Given the description of an element on the screen output the (x, y) to click on. 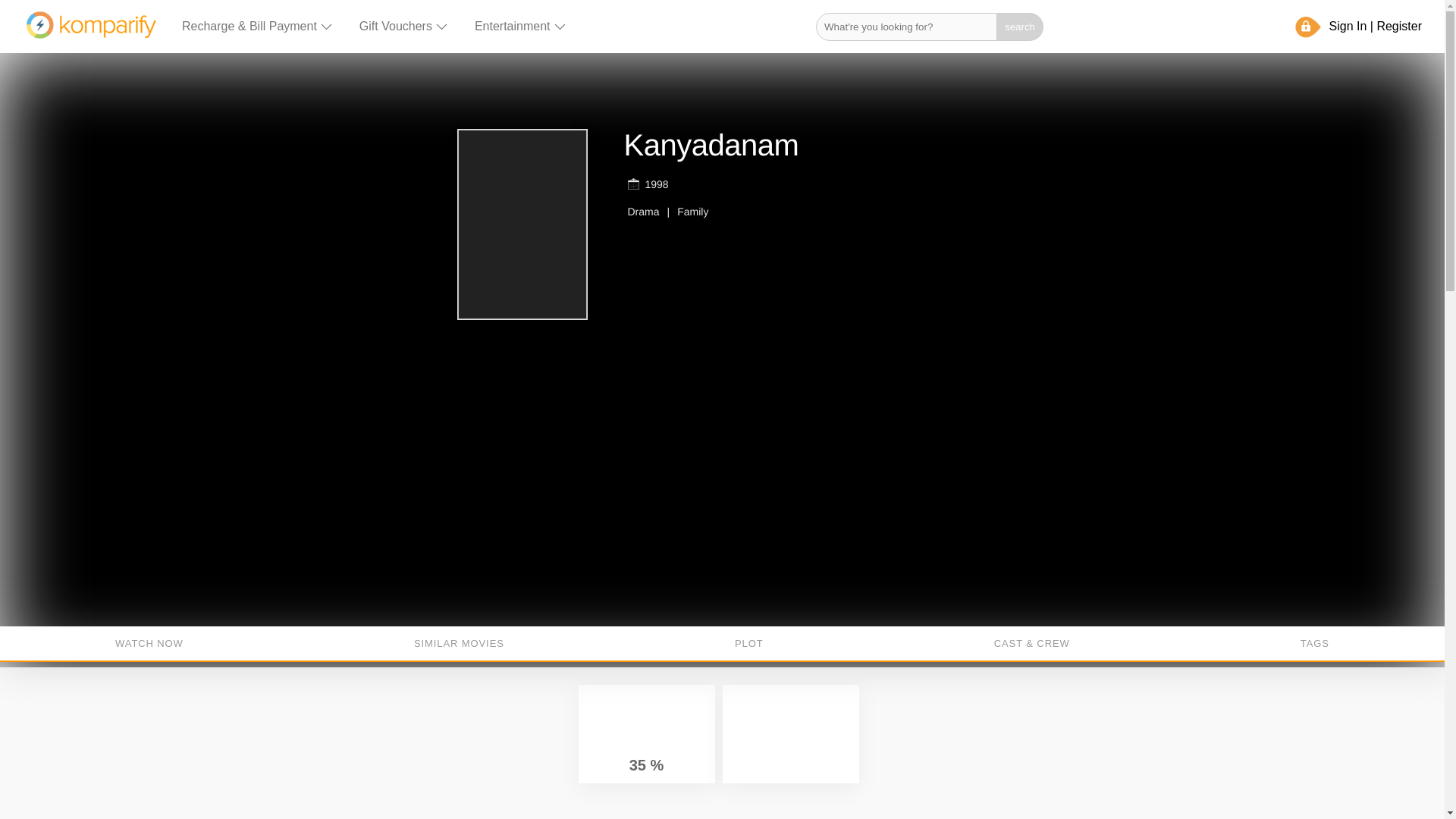
Gift Vouchers (402, 26)
Sign In (1348, 25)
Register (1398, 25)
search (1020, 26)
search (1020, 26)
Entertainment (520, 26)
